Given the description of an element on the screen output the (x, y) to click on. 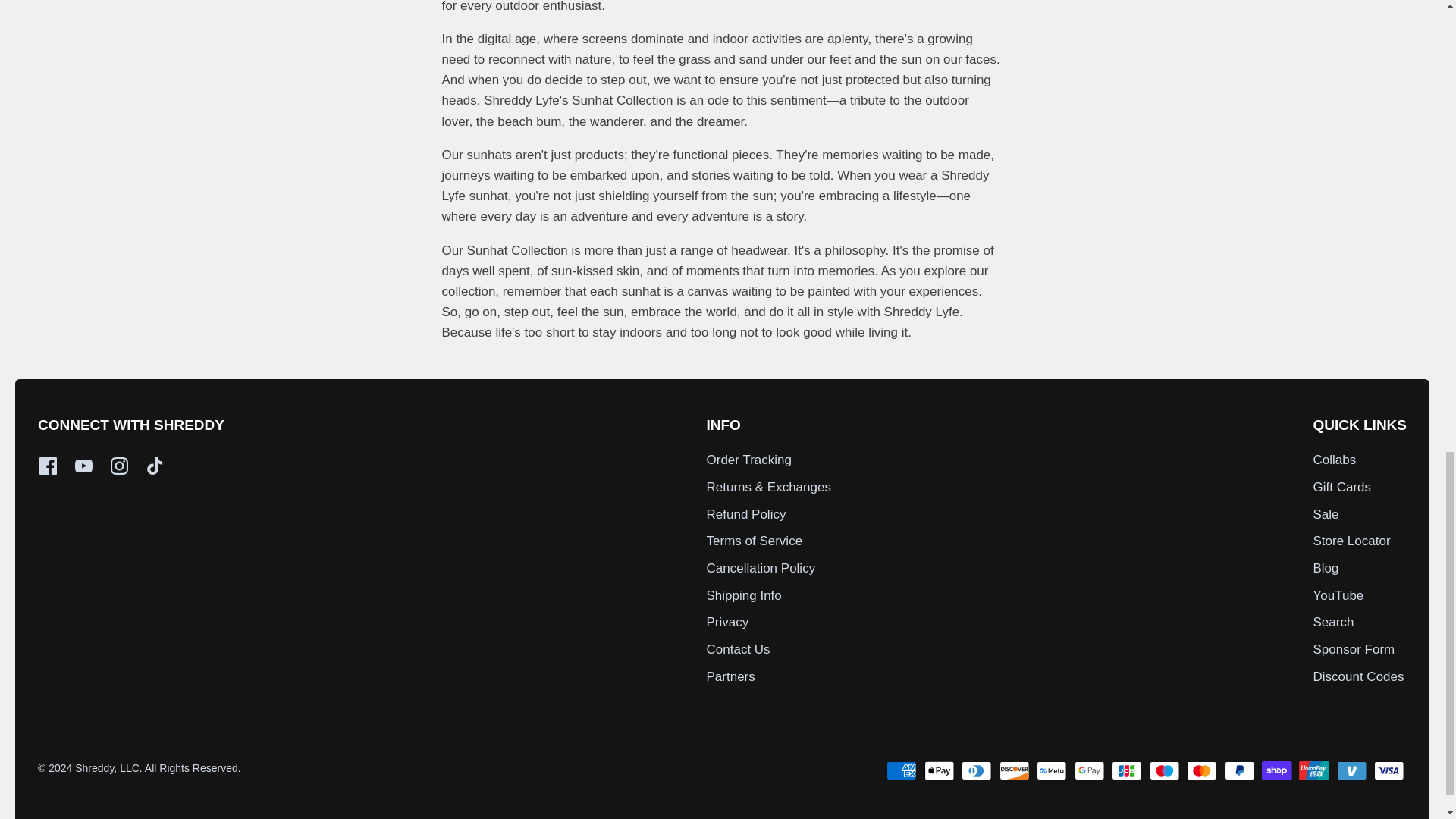
Discover (1013, 770)
Diners Club (975, 770)
Meta Pay (1051, 770)
Apple Pay (939, 770)
American Express (900, 770)
Instagram (119, 466)
Youtube (84, 466)
Google Pay (1089, 770)
Facebook (47, 466)
